Given the description of an element on the screen output the (x, y) to click on. 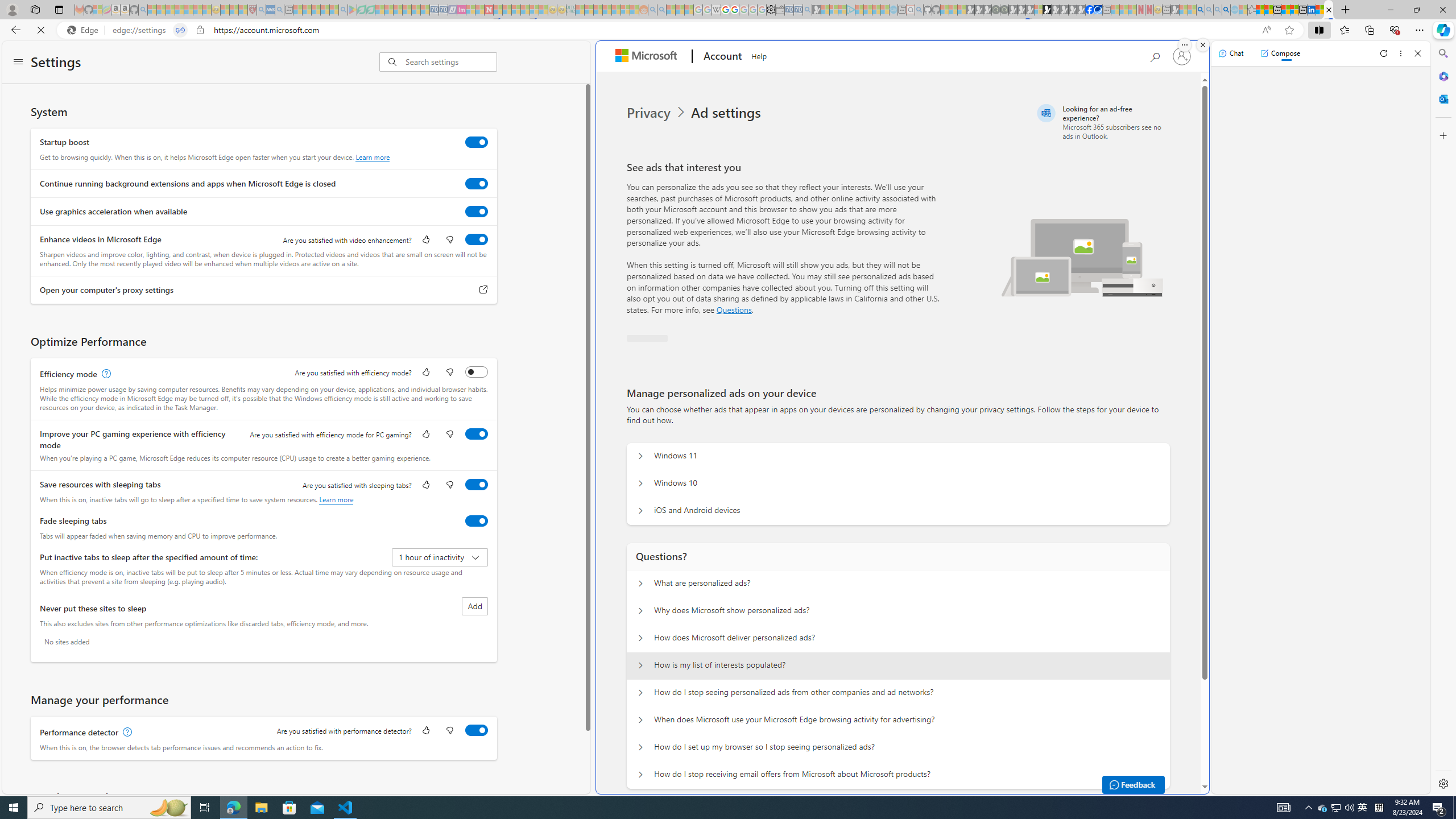
Manage personalized ads on your device Windows 11 (640, 455)
Help (758, 54)
The Weather Channel - MSN - Sleeping (170, 9)
Efficiency mode, learn more (104, 374)
Efficiency mode (476, 371)
Privacy Help Center - Policies Help (725, 9)
